Given the description of an element on the screen output the (x, y) to click on. 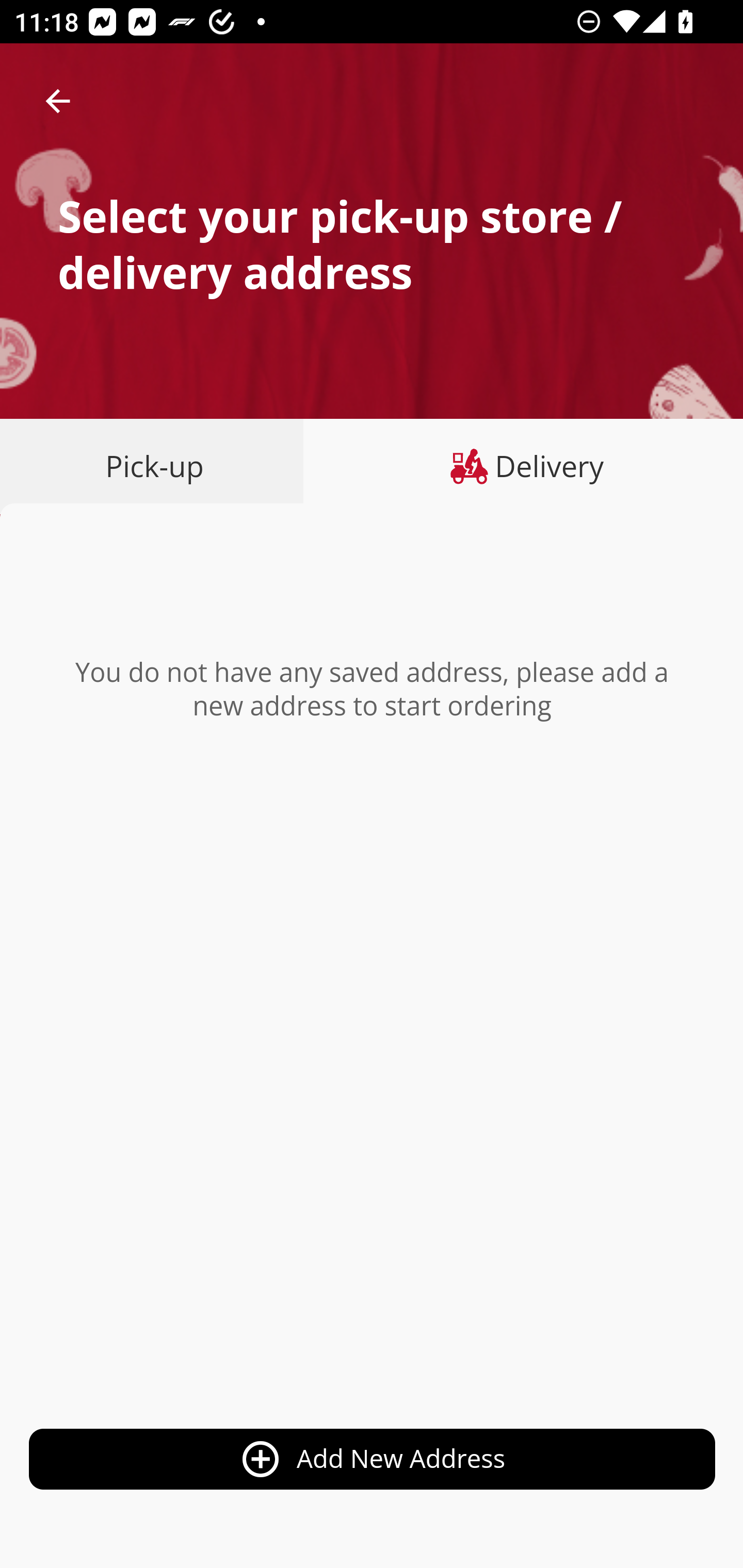
arrow_back (58, 100)
Pick-up (157, 466)
Delivery (523, 466)
add_circle_outline Add New Address (372, 1459)
